Given the description of an element on the screen output the (x, y) to click on. 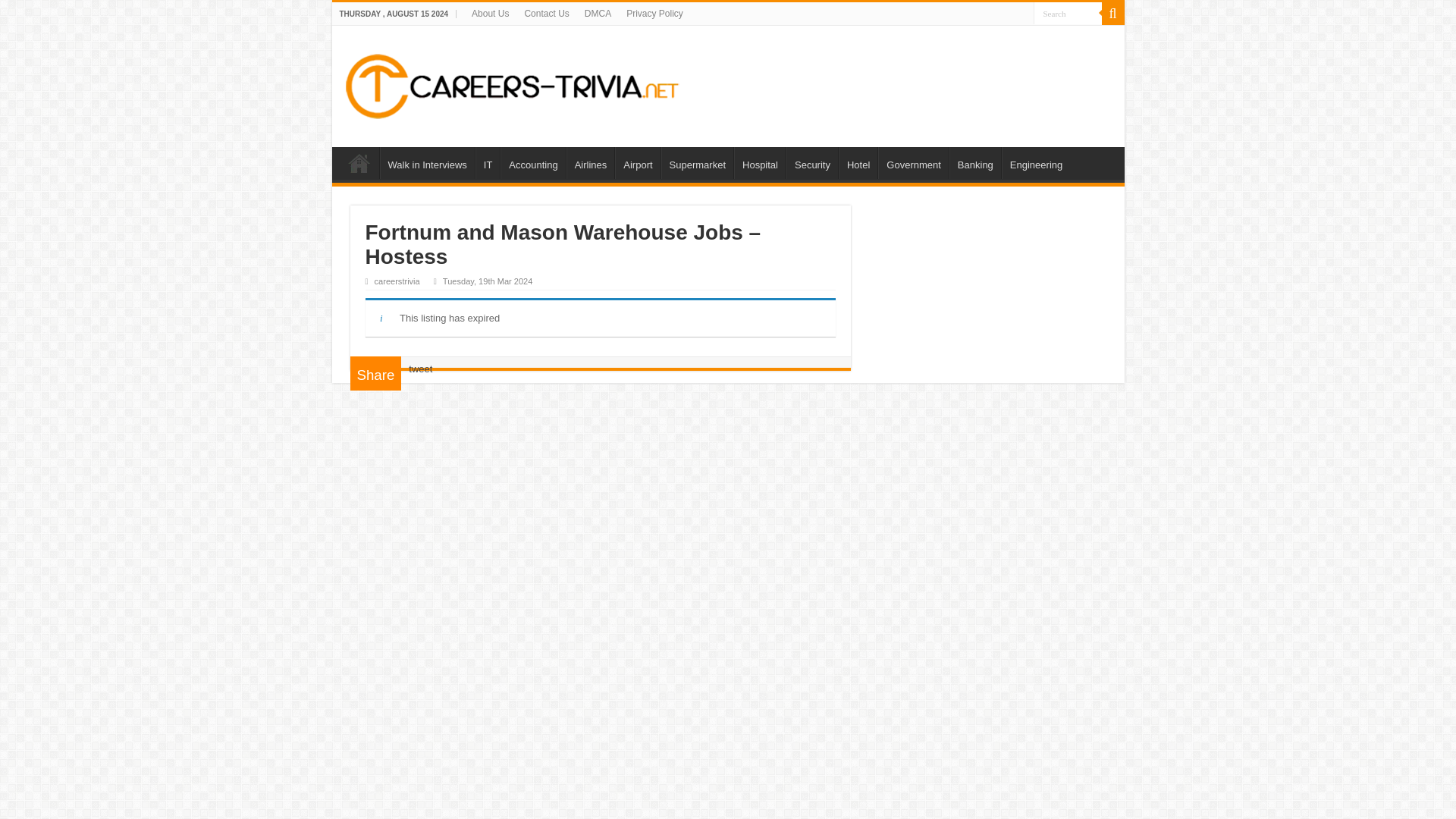
About Us (490, 13)
Accounting (532, 163)
Hospital (759, 163)
Contact Us (546, 13)
Supermarket (697, 163)
careerstrivia (397, 280)
Banking (975, 163)
Government (913, 163)
Home (358, 163)
tweet (420, 368)
